Given the description of an element on the screen output the (x, y) to click on. 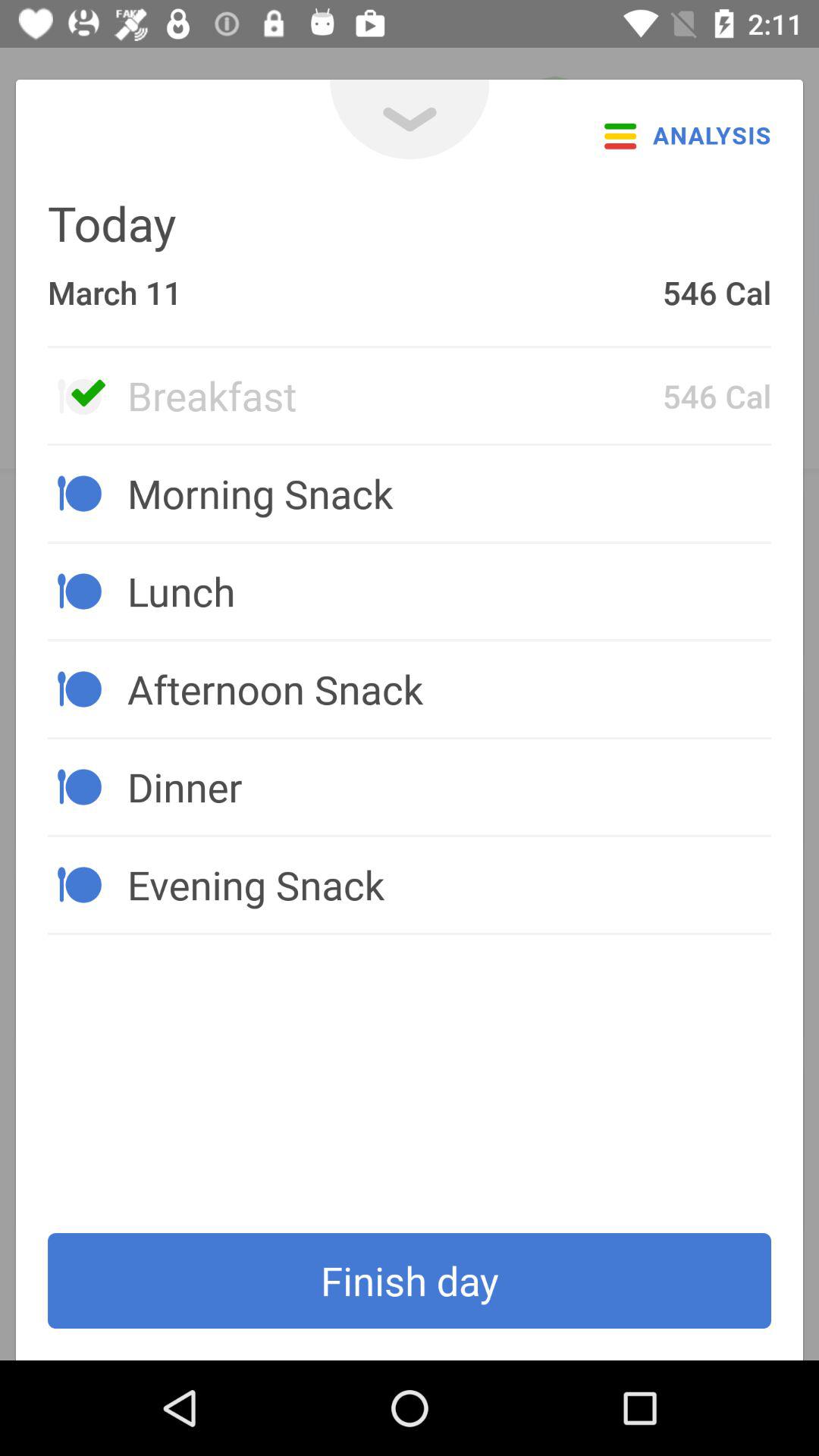
scroll until breakfast item (394, 395)
